Given the description of an element on the screen output the (x, y) to click on. 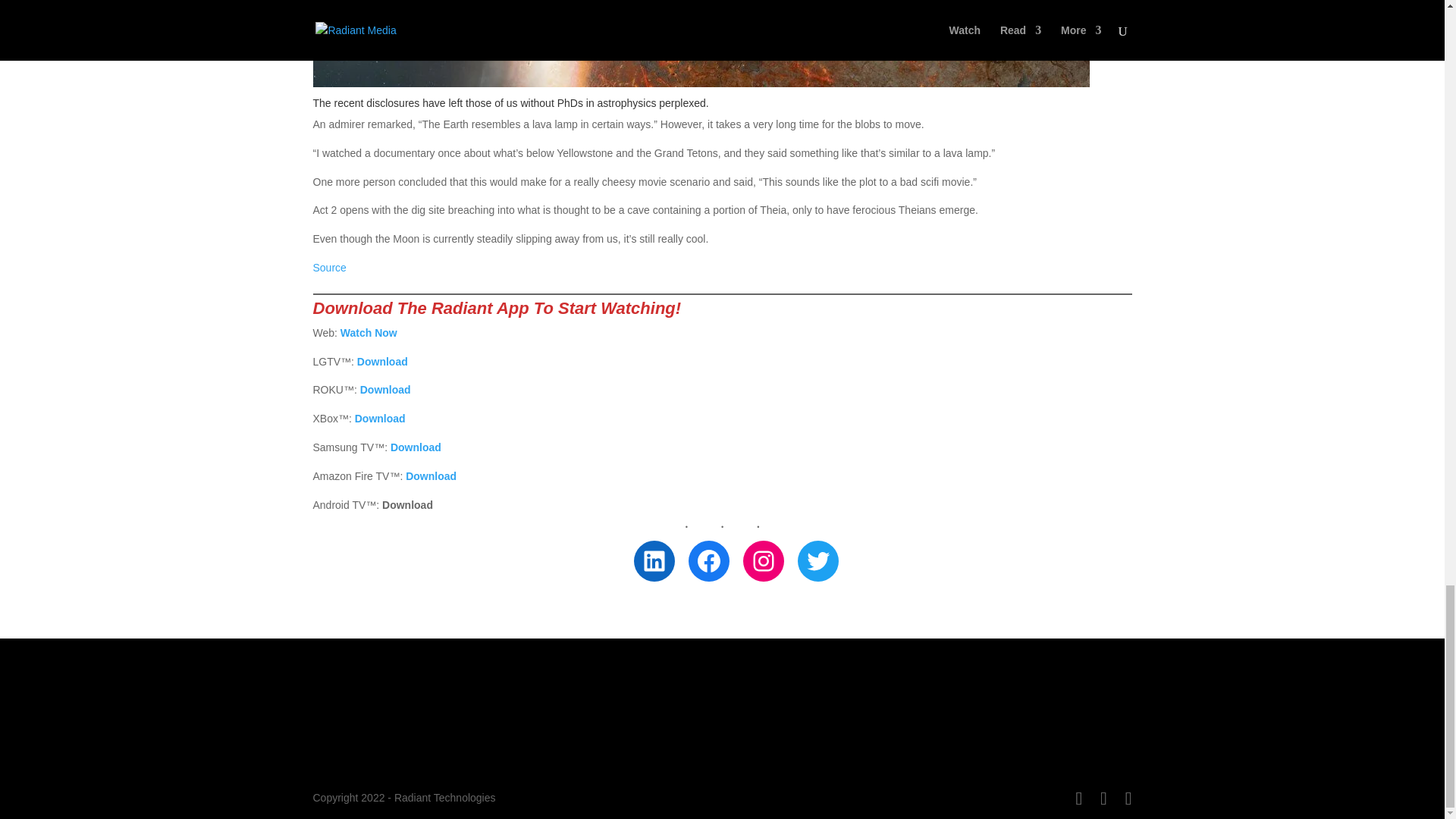
Download (431, 476)
Download (381, 361)
LinkedIn (654, 560)
Download (384, 389)
Download (415, 447)
Source (329, 267)
Download (380, 418)
Watch Now (368, 332)
